Given the description of an element on the screen output the (x, y) to click on. 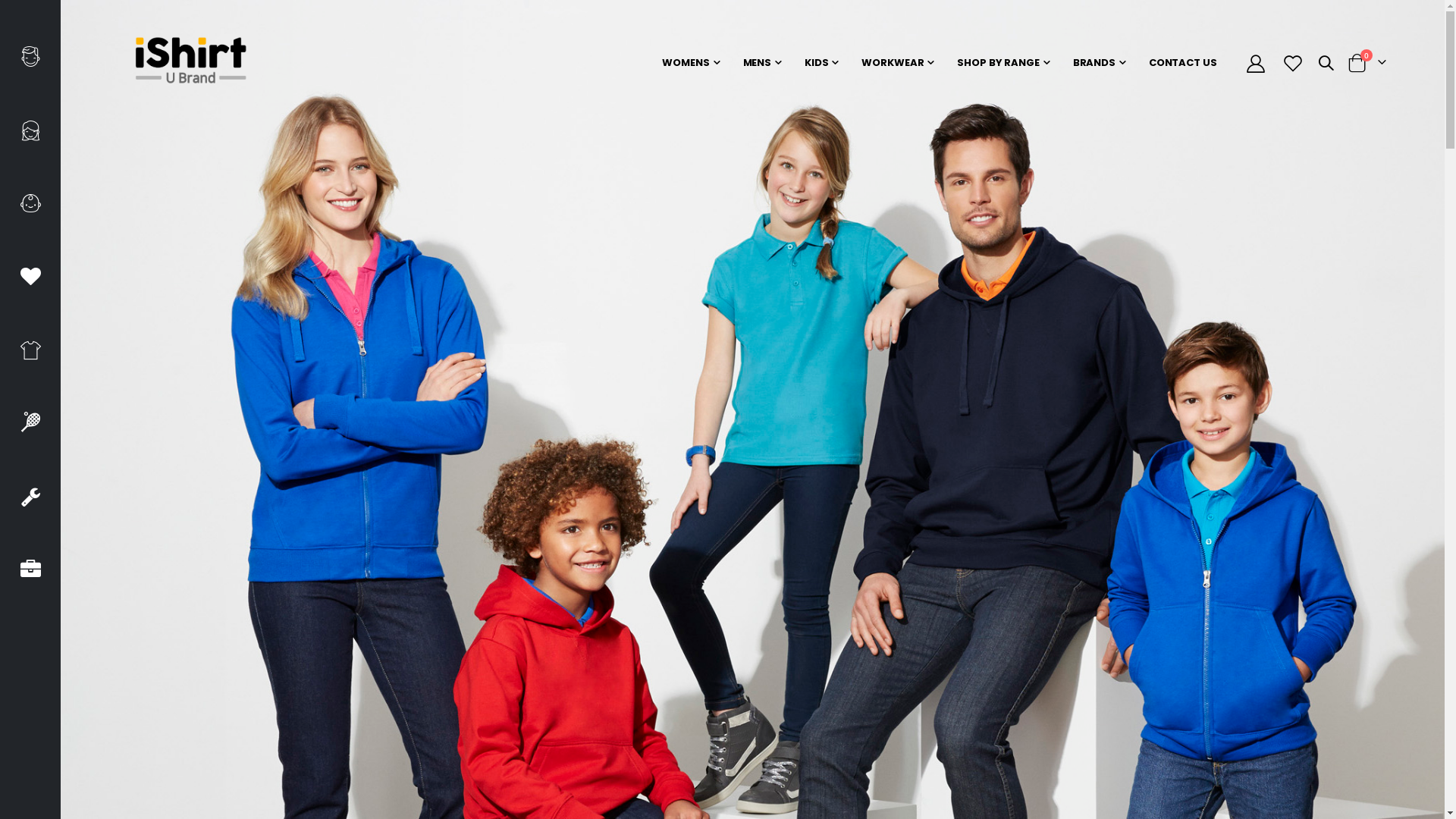
Cart
0 Element type: text (1366, 62)
WOMENS Element type: text (690, 62)
BRANDS Element type: text (1098, 62)
MENS Element type: text (761, 62)
WORKWEAR Element type: text (897, 62)
My Account Element type: hover (1255, 62)
SHOP BY RANGE Element type: text (1002, 62)
KIDS Element type: text (821, 62)
Wishlist Element type: hover (1292, 62)
CONTACT US Element type: text (1182, 62)
